Given the description of an element on the screen output the (x, y) to click on. 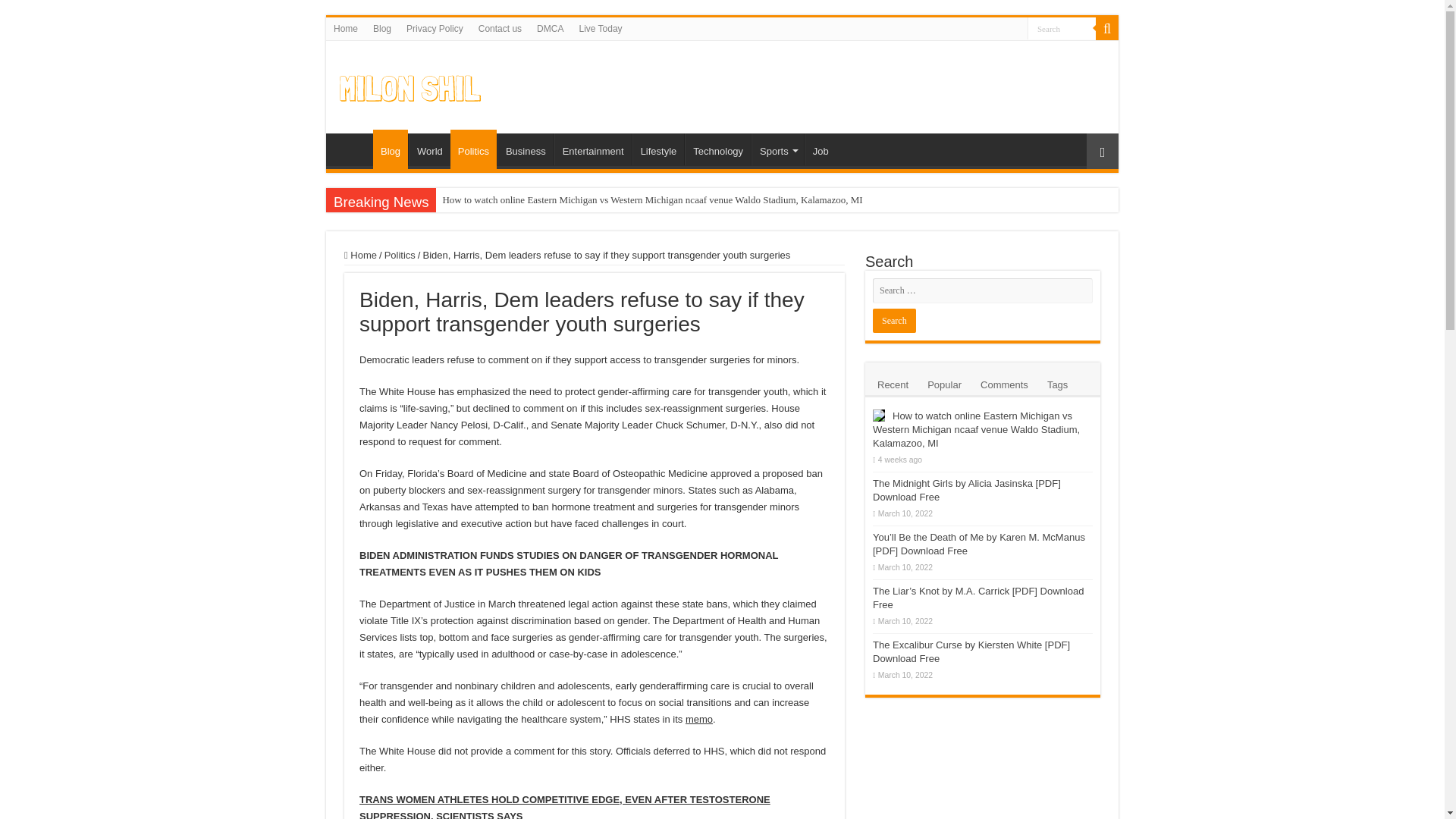
Privacy Policy (434, 28)
Milon Shil (409, 85)
Technology (717, 149)
Lifestyle (657, 149)
Home (352, 149)
Search (1061, 28)
Politics (472, 148)
DMCA (549, 28)
Random Article (1102, 150)
